Given the description of an element on the screen output the (x, y) to click on. 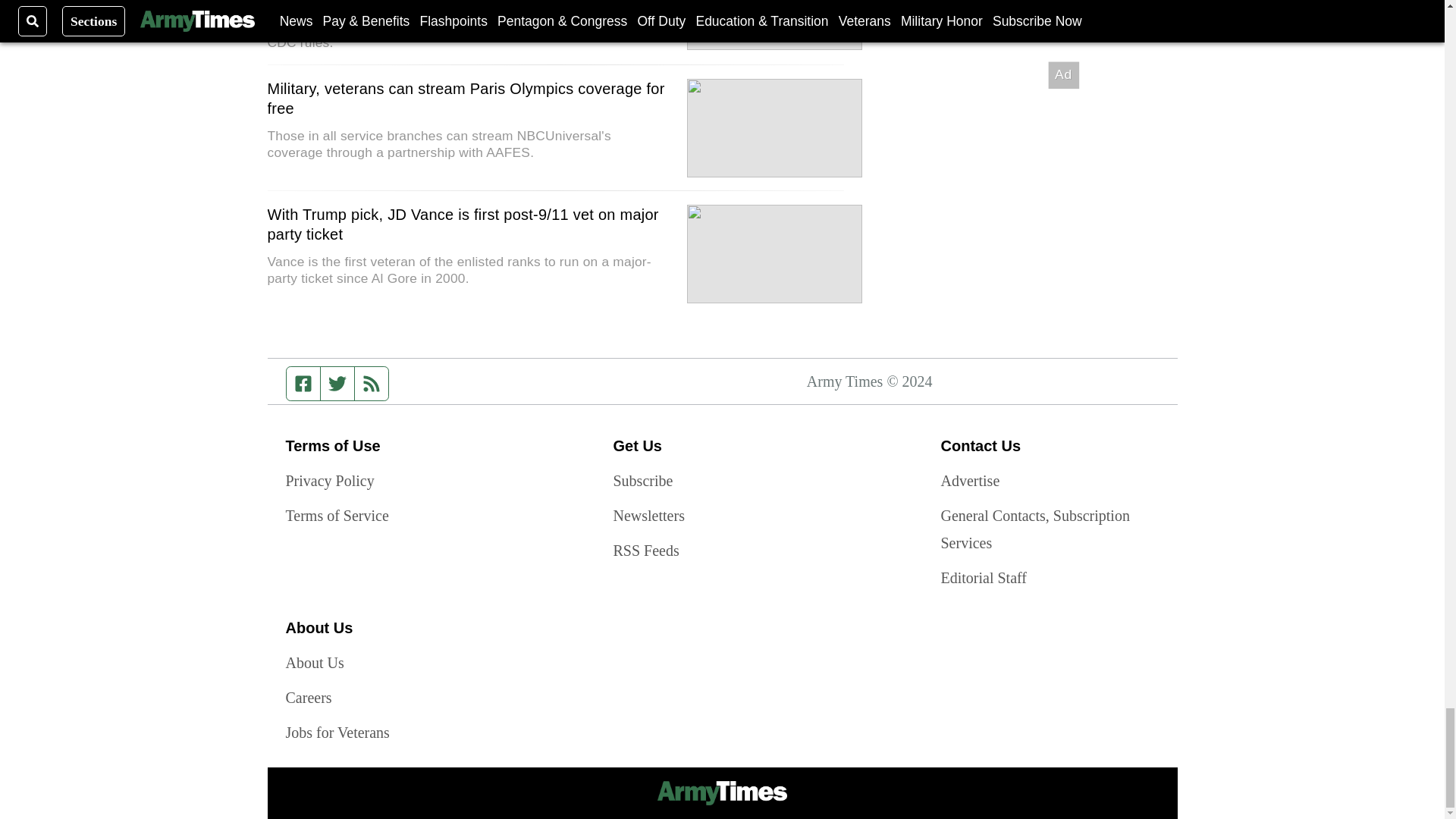
RSS feed (371, 383)
Facebook page (303, 383)
Twitter feed (336, 383)
